Given the description of an element on the screen output the (x, y) to click on. 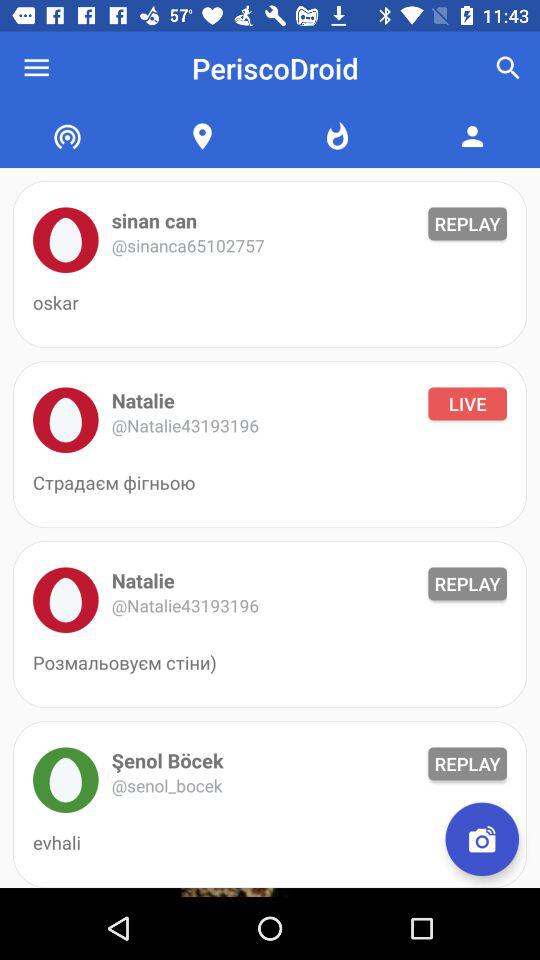
replay option (65, 240)
